Given the description of an element on the screen output the (x, y) to click on. 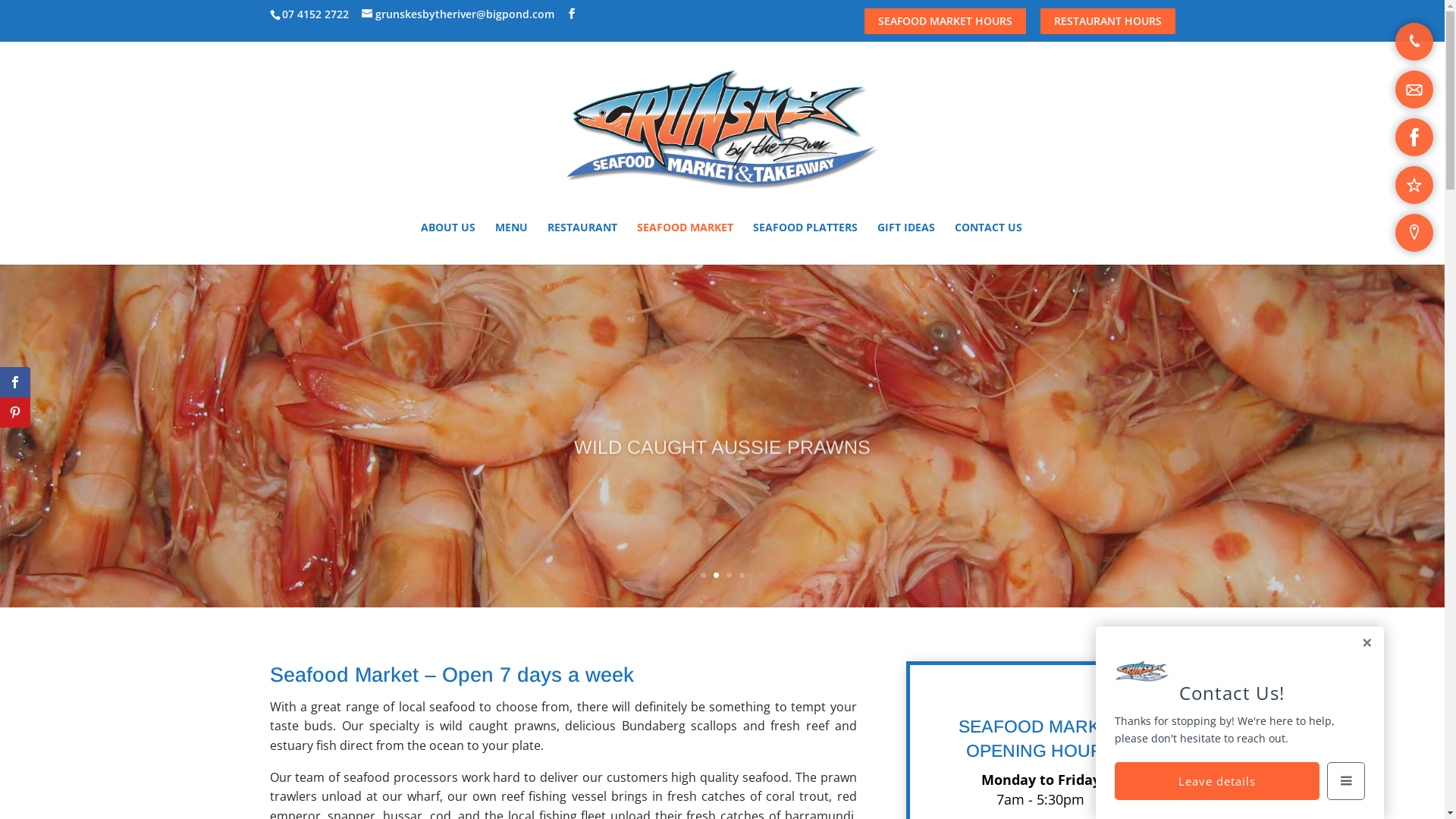
CONTACT US Element type: text (988, 243)
SEAFOOD MARKET Element type: text (685, 243)
grunskesbytheriver@bigpond.com Element type: text (456, 13)
ABOUT US Element type: text (447, 243)
SEAFOOD PLATTERS Element type: text (805, 243)
Leave details Element type: text (1216, 781)
RESTAURANT HOURS Element type: text (1107, 20)
3 Element type: text (728, 574)
RESTAURANT Element type: text (582, 243)
GIFT IDEAS Element type: text (906, 243)
SEAFOOD MARKET HOURS Element type: text (945, 20)
4 Element type: text (740, 574)
MENU Element type: text (511, 243)
2 Element type: text (715, 574)
1 Element type: text (703, 574)
